Given the description of an element on the screen output the (x, y) to click on. 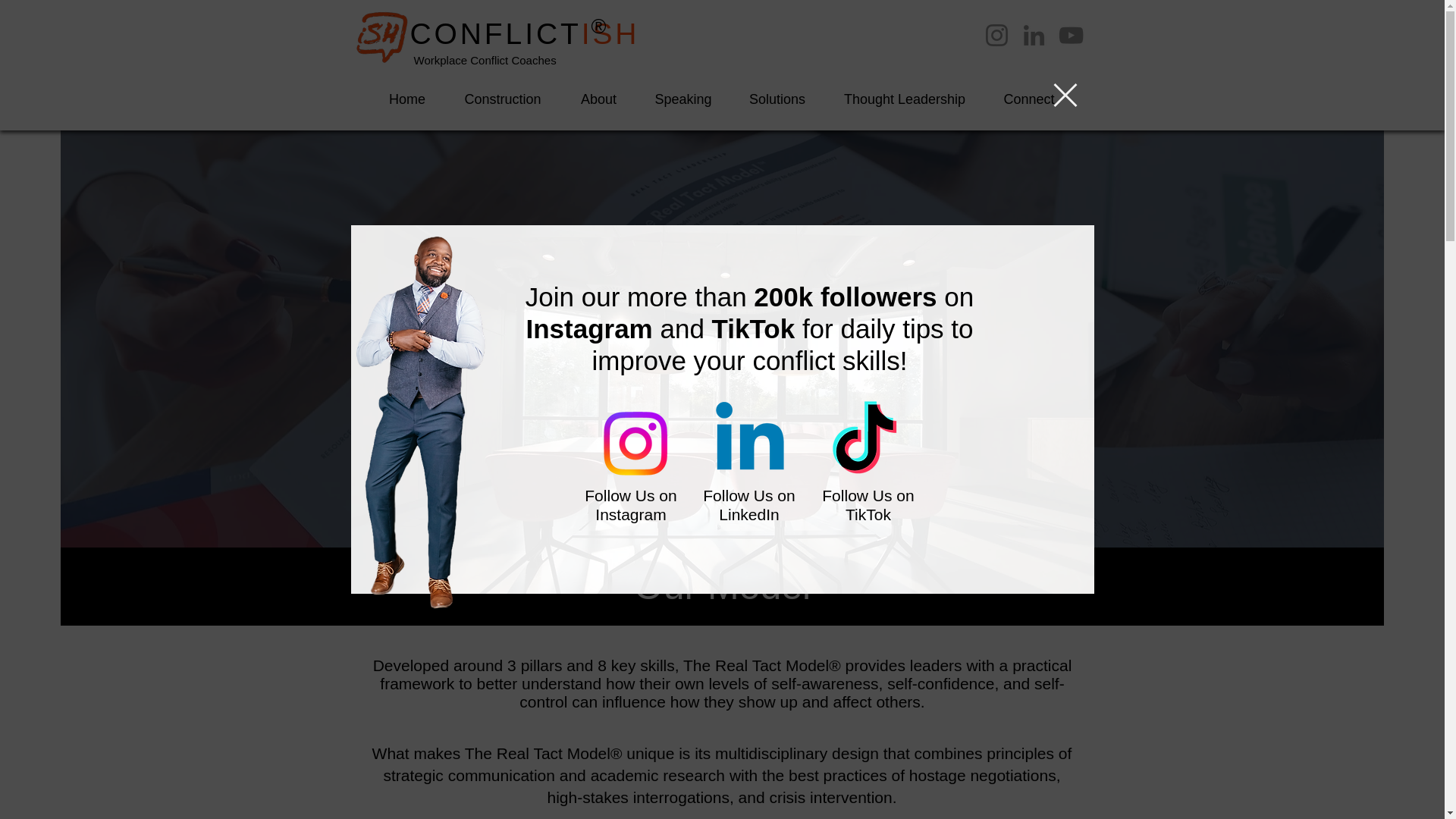
Speaking (681, 99)
Home (406, 99)
CONFLICTISH (524, 33)
Back to site (1065, 95)
Construction (502, 99)
Connect (1027, 99)
